Given the description of an element on the screen output the (x, y) to click on. 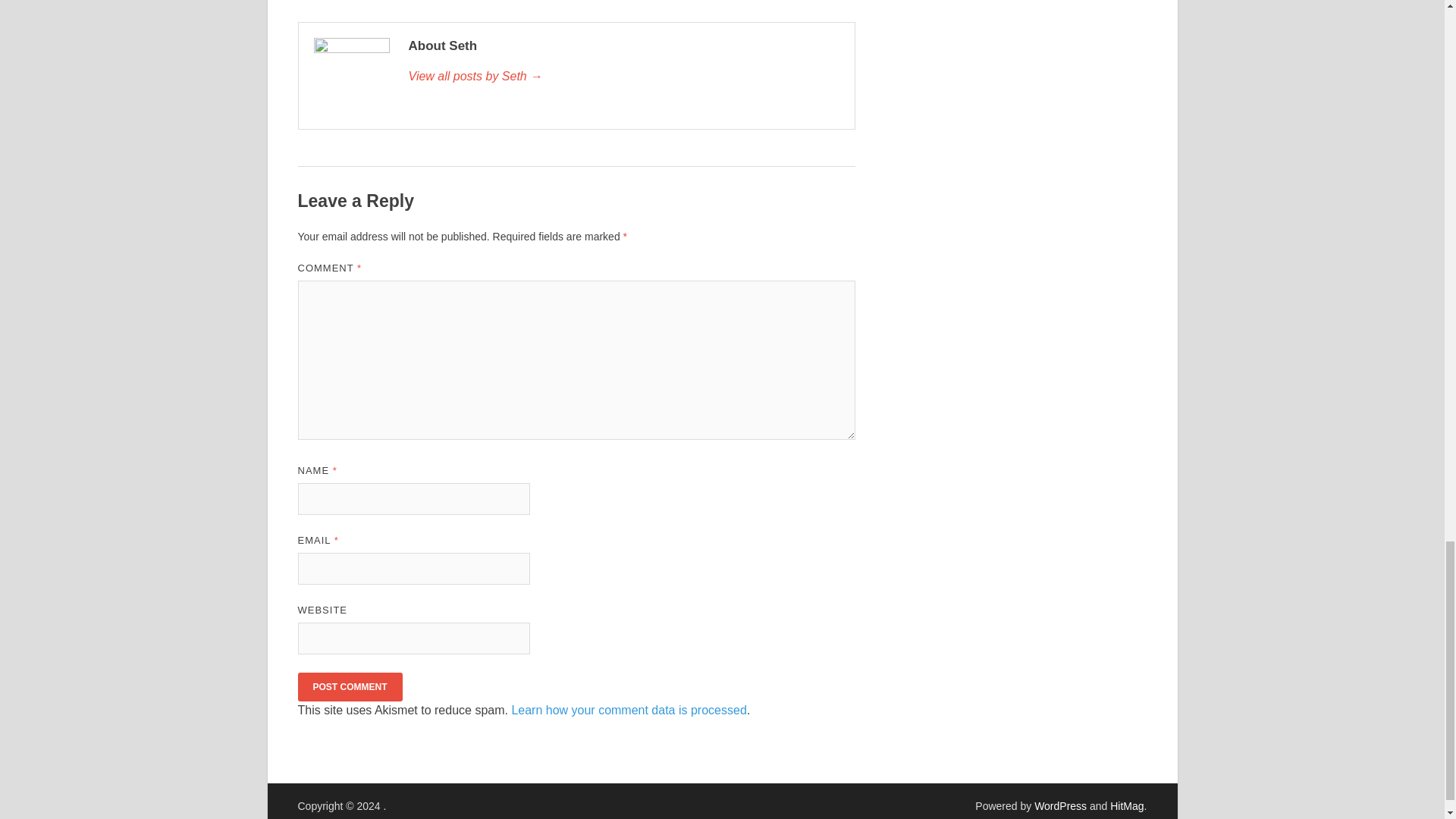
Seth (622, 76)
HitMag WordPress Theme (1125, 806)
WordPress (1059, 806)
Post Comment (349, 686)
